Given the description of an element on the screen output the (x, y) to click on. 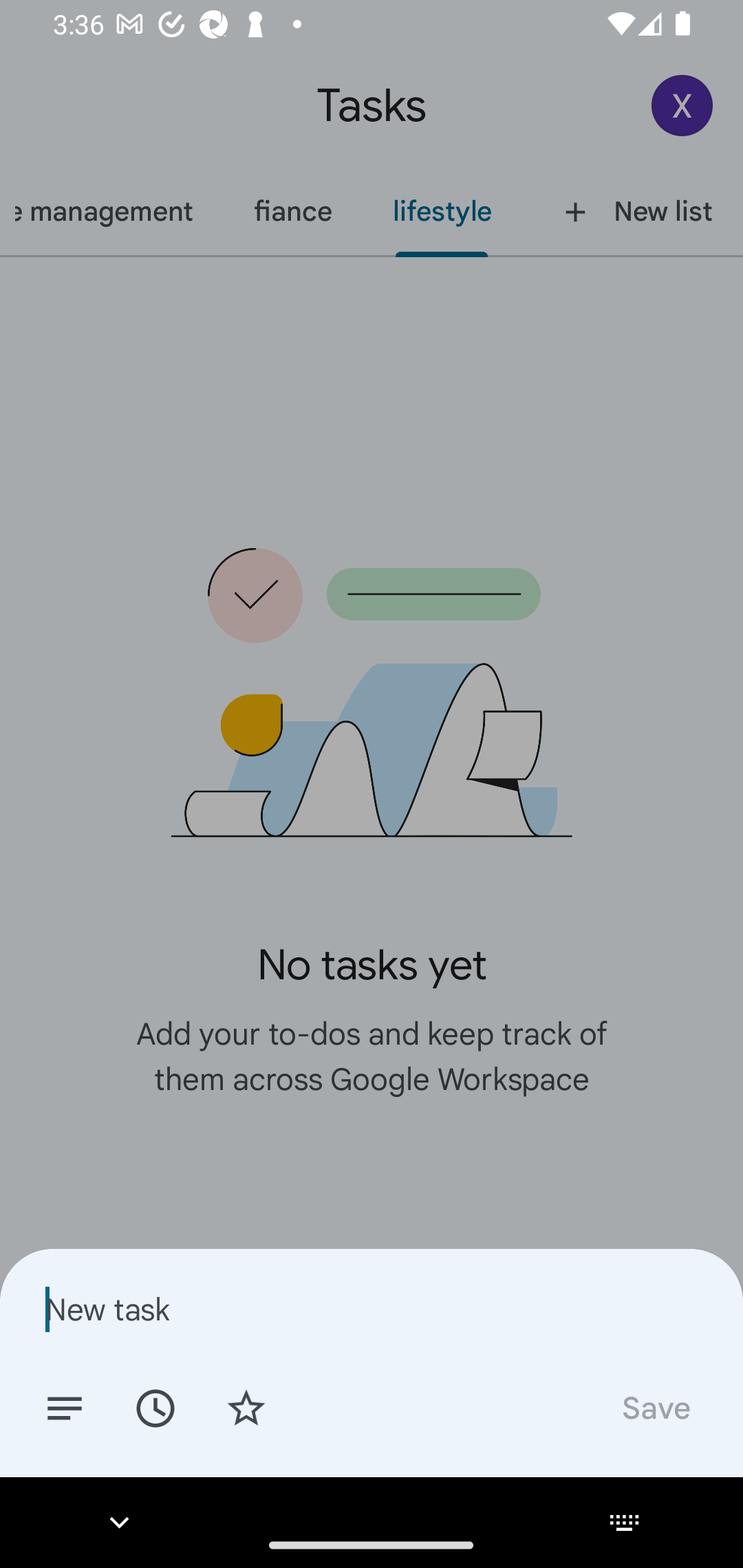
New task (371, 1308)
Save (655, 1407)
Add details (64, 1407)
Set date/time (154, 1407)
Add star (245, 1407)
